Given the description of an element on the screen output the (x, y) to click on. 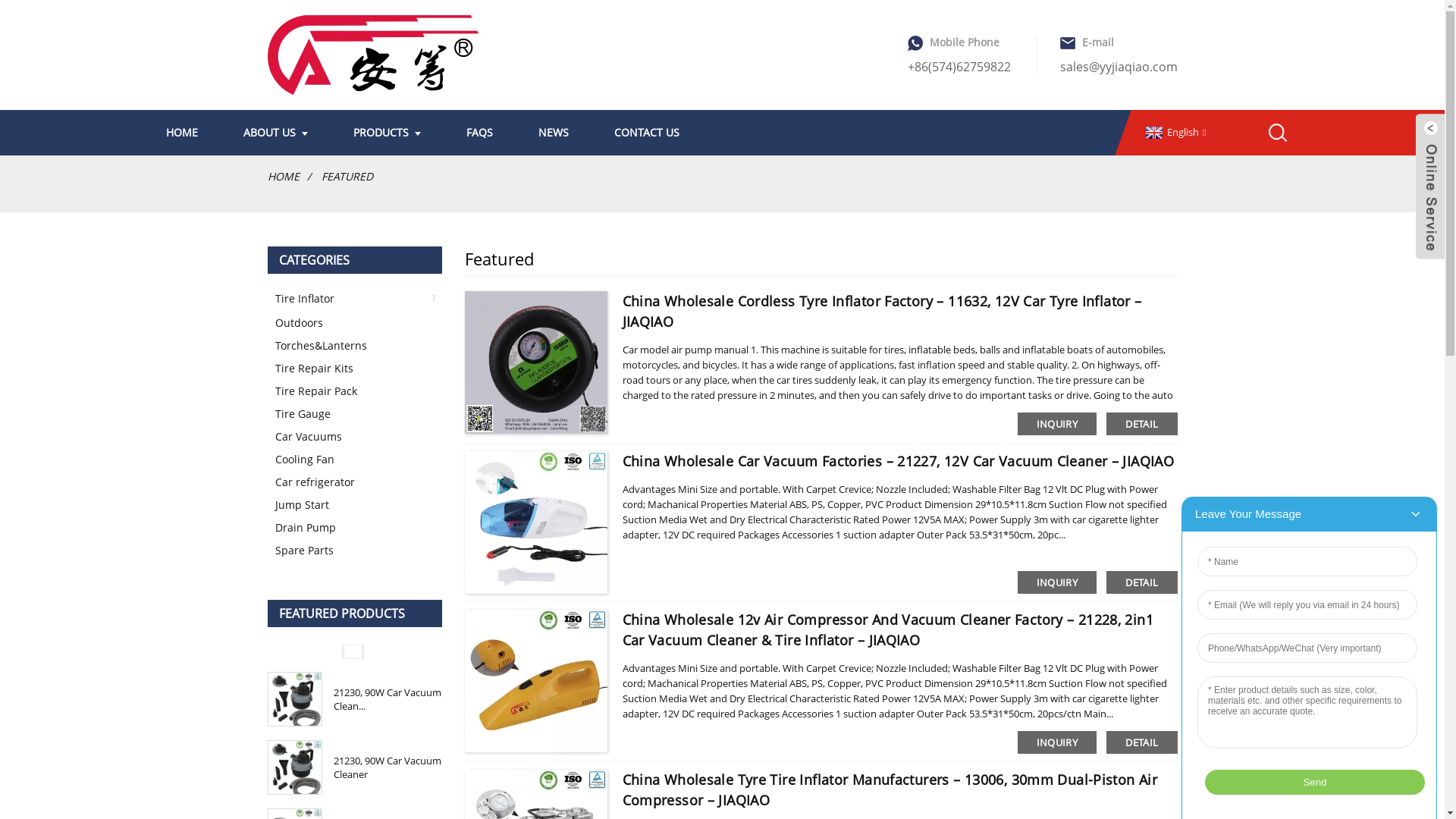
sales@yyjiaqiao.com Element type: text (1118, 66)
DETAIL Element type: text (1141, 423)
Tire Inflator Element type: text (346, 298)
Car Vacuums Element type: text (357, 436)
Outdoors Element type: text (357, 322)
Tire Repair Kits Element type: text (357, 368)
English Element type: text (1173, 131)
INQUIRY Element type: text (1057, 742)
DETAIL Element type: text (1141, 582)
FEATURED Element type: text (347, 176)
Drain Pump Element type: text (357, 527)
Cooling Fan Element type: text (357, 459)
NEWS Element type: text (552, 132)
DETAIL Element type: text (1141, 742)
Car refrigerator Element type: text (357, 481)
PRODUCTS Element type: text (385, 132)
21230, 90W Car Vacuum Clean... Element type: text (387, 698)
Spare Parts Element type: text (357, 550)
INQUIRY Element type: text (1057, 582)
HOME Element type: text (181, 132)
21230, 90W Car Vacuum Cleaner Element type: text (387, 767)
CONTACT US Element type: text (645, 132)
Jump Start Element type: text (357, 504)
ABOUT US Element type: text (275, 132)
FAQS Element type: text (479, 132)
INQUIRY Element type: text (1057, 423)
HOME Element type: text (282, 176)
Tire Gauge Element type: text (357, 413)
Tire Repair Pack Element type: text (357, 390)
Torches&Lanterns Element type: text (357, 345)
